Given the description of an element on the screen output the (x, y) to click on. 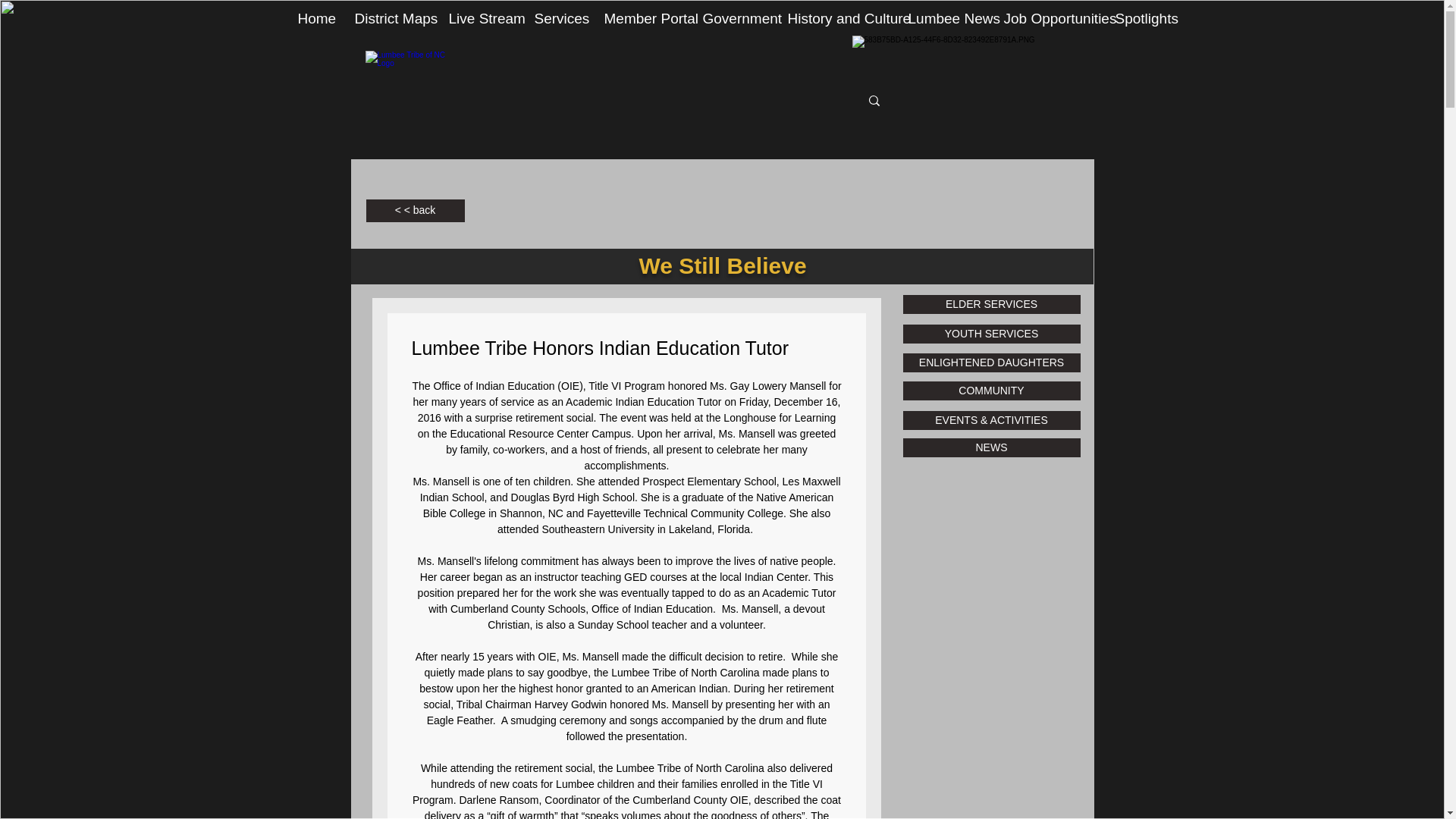
District Maps (389, 23)
Live Stream (479, 23)
Home (314, 23)
Services (557, 23)
Lumbee News (943, 23)
History and Culture (836, 23)
Job Opportunities (1047, 23)
Spotlights (1141, 23)
Government (733, 23)
Member Portal (641, 23)
